Given the description of an element on the screen output the (x, y) to click on. 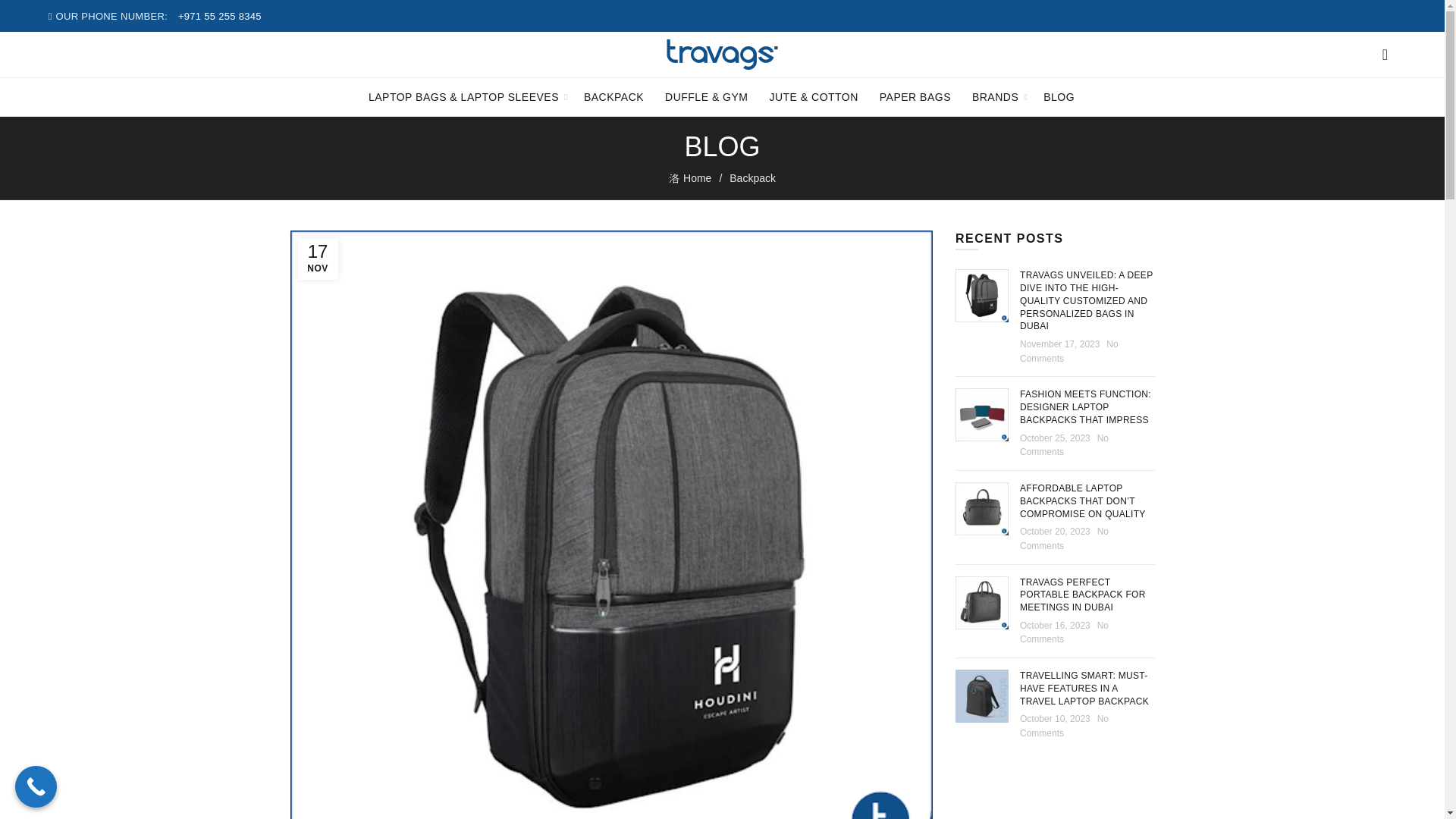
PAPER BAGS (914, 96)
Backpack (752, 177)
BACKPACK (613, 96)
Home (698, 178)
BRANDS (994, 96)
BLOG (1058, 96)
